Given the description of an element on the screen output the (x, y) to click on. 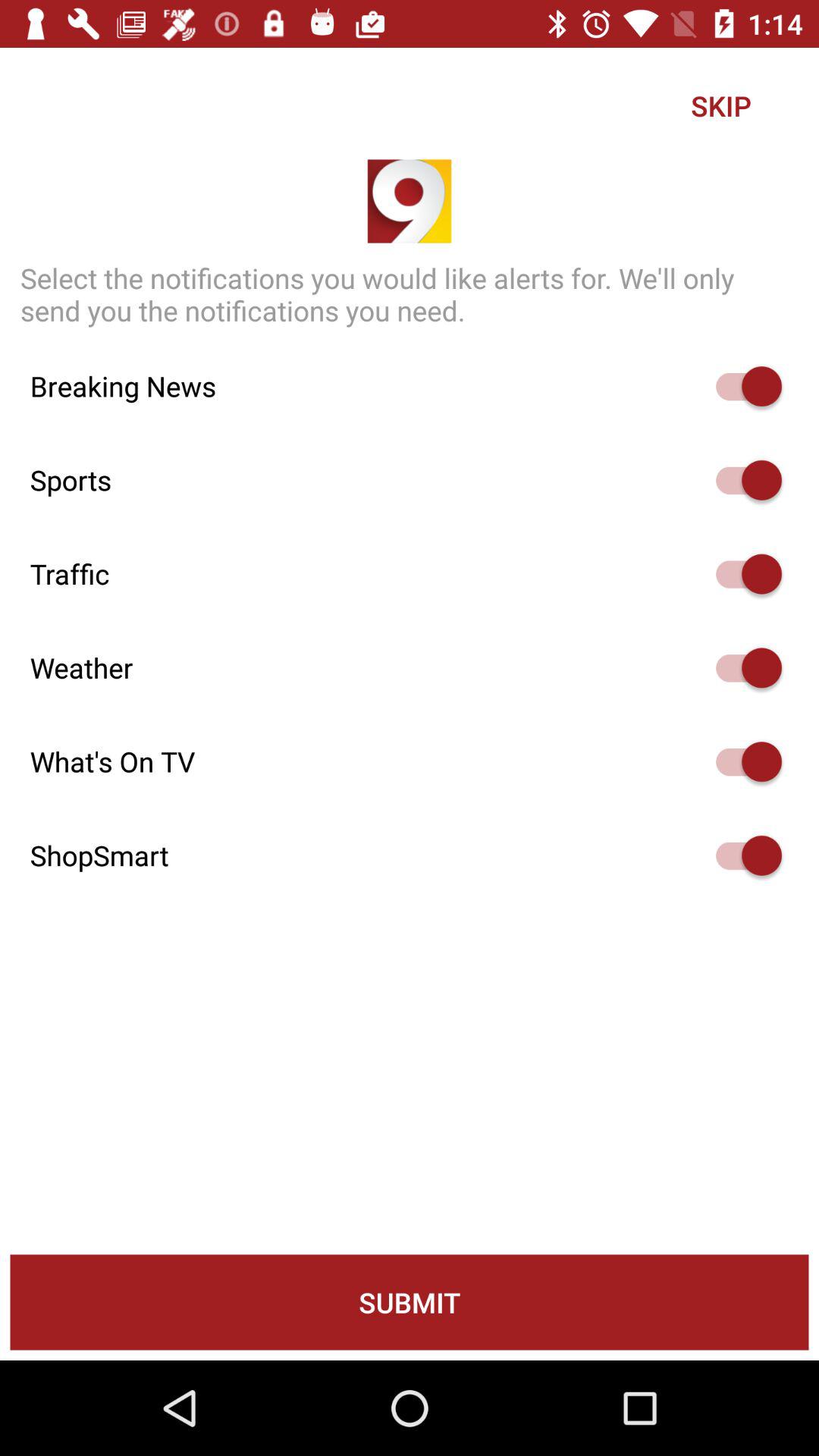
toggle weather on (741, 667)
